Given the description of an element on the screen output the (x, y) to click on. 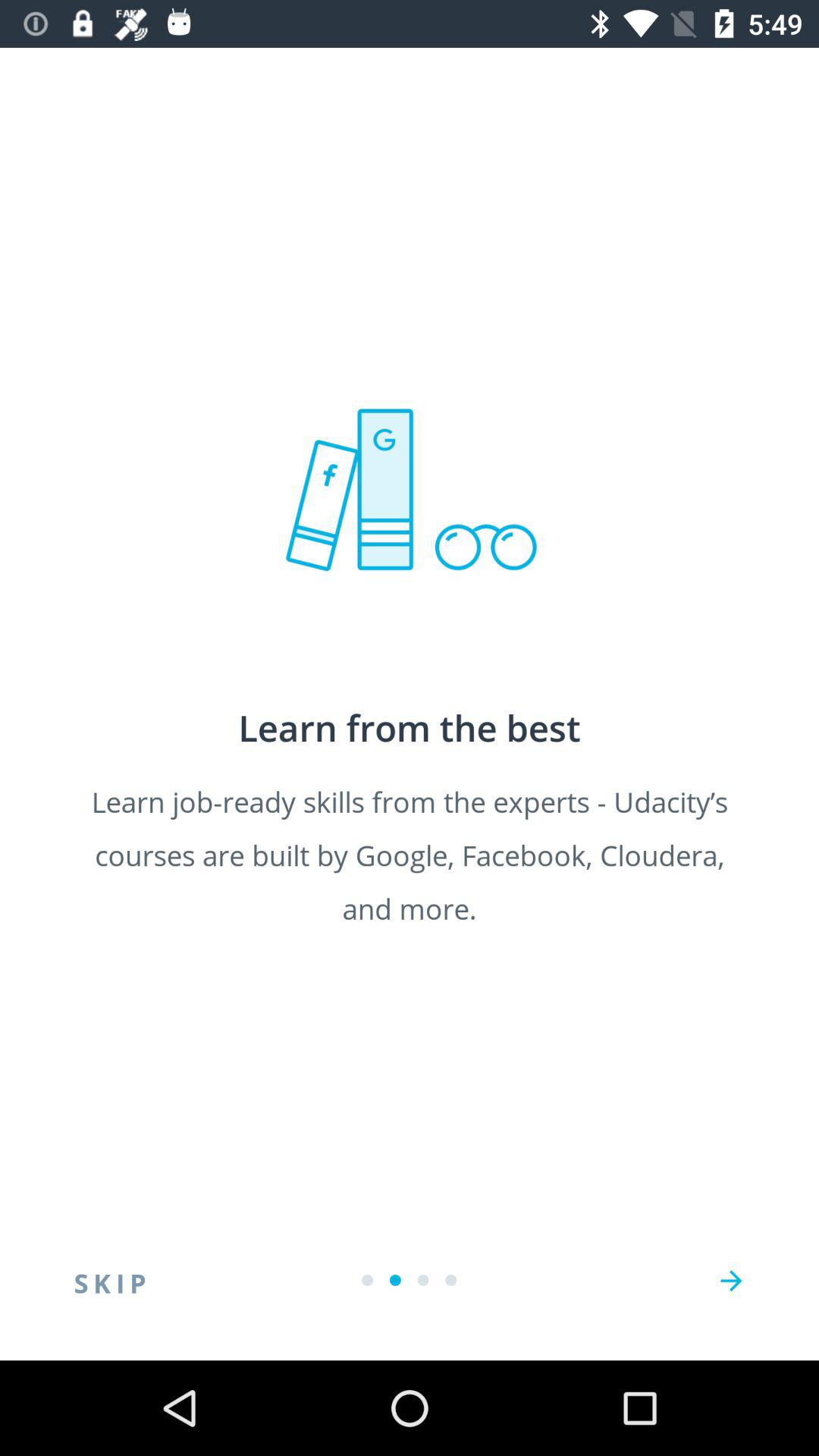
go next page (731, 1280)
